Given the description of an element on the screen output the (x, y) to click on. 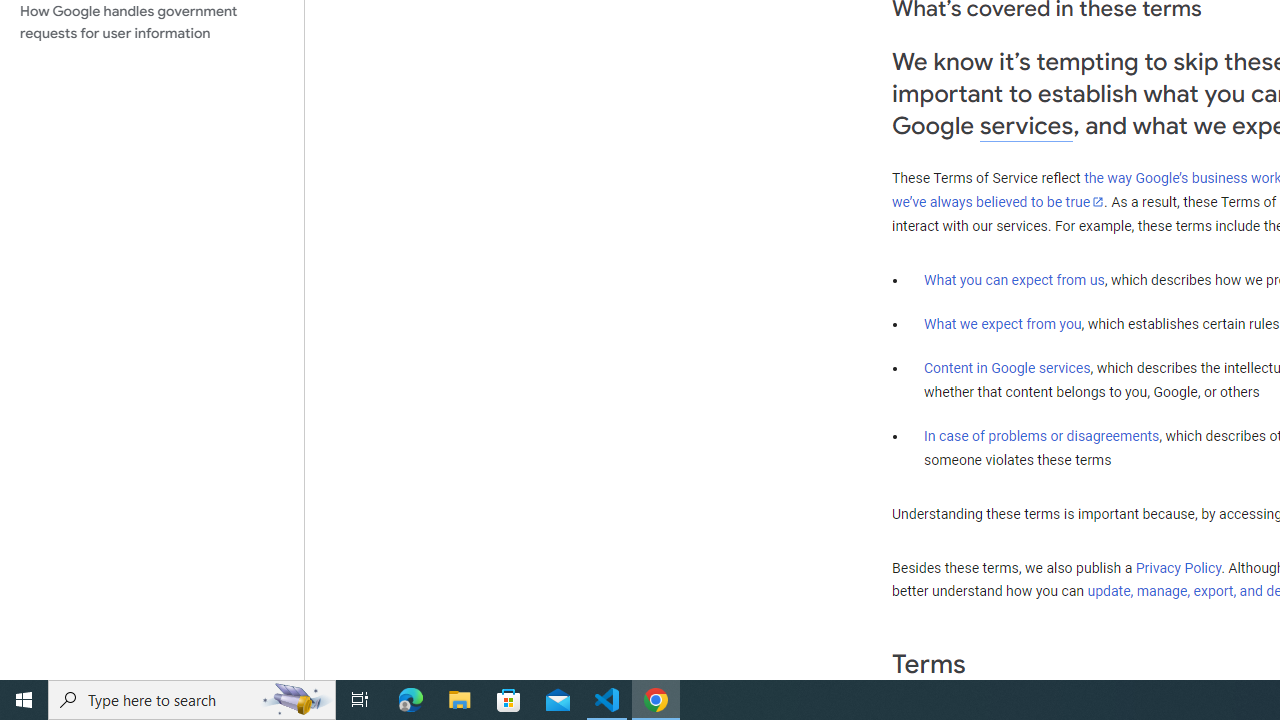
In case of problems or disagreements (1041, 435)
What you can expect from us (1014, 279)
Content in Google services (1007, 368)
What we expect from you (1002, 323)
services (1026, 125)
